Given the description of an element on the screen output the (x, y) to click on. 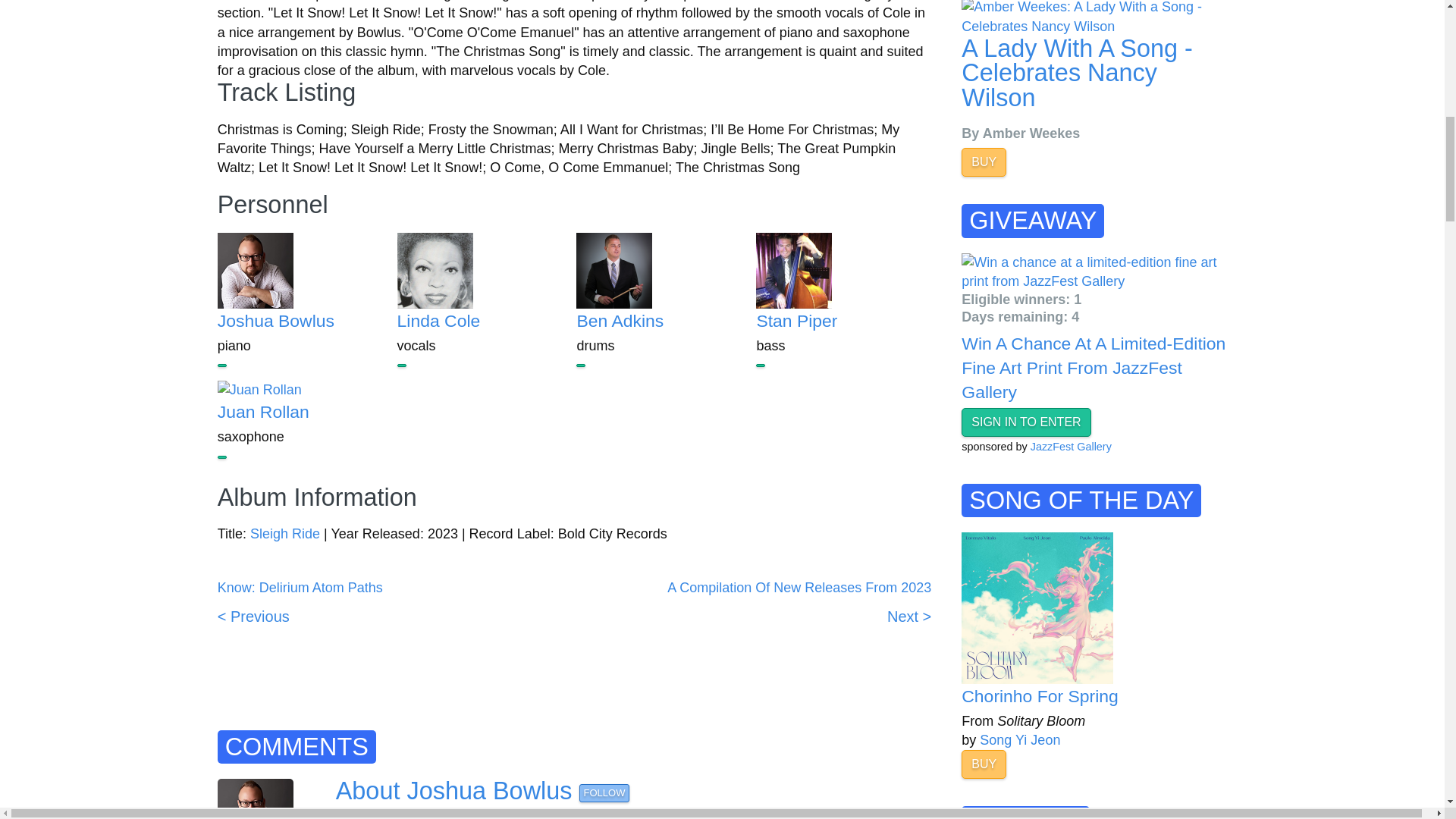
Linda Cole (438, 320)
Visit Joshua Bowlus at All About Jazz (275, 320)
Joshua Bowlus (275, 320)
View Joshua Bowlus's calendar (221, 364)
Visit Linda Cole at All About Jazz (484, 270)
Visit Joshua Bowlus at All About Jazz (304, 270)
